Given the description of an element on the screen output the (x, y) to click on. 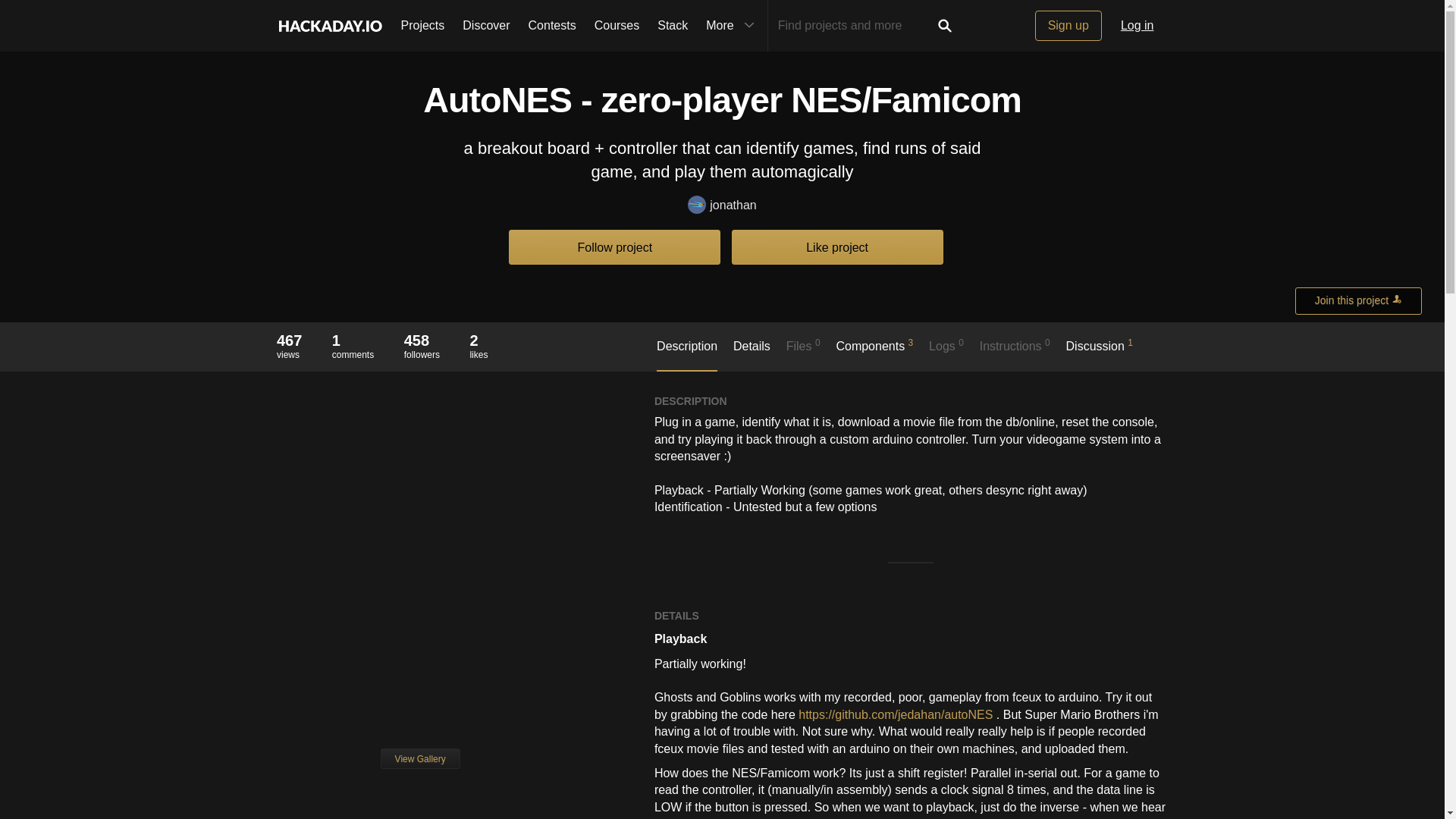
Discover (485, 25)
Join this project (1358, 300)
Components 3 (873, 353)
More (732, 25)
Log in (1137, 25)
Sign up (1068, 25)
Two characters minimum (853, 25)
Discussion 1 (1099, 353)
Like project (837, 246)
Details (751, 354)
Contests (552, 25)
Description (686, 354)
Projects (421, 25)
Follow project (614, 246)
Comments (352, 340)
